Given the description of an element on the screen output the (x, y) to click on. 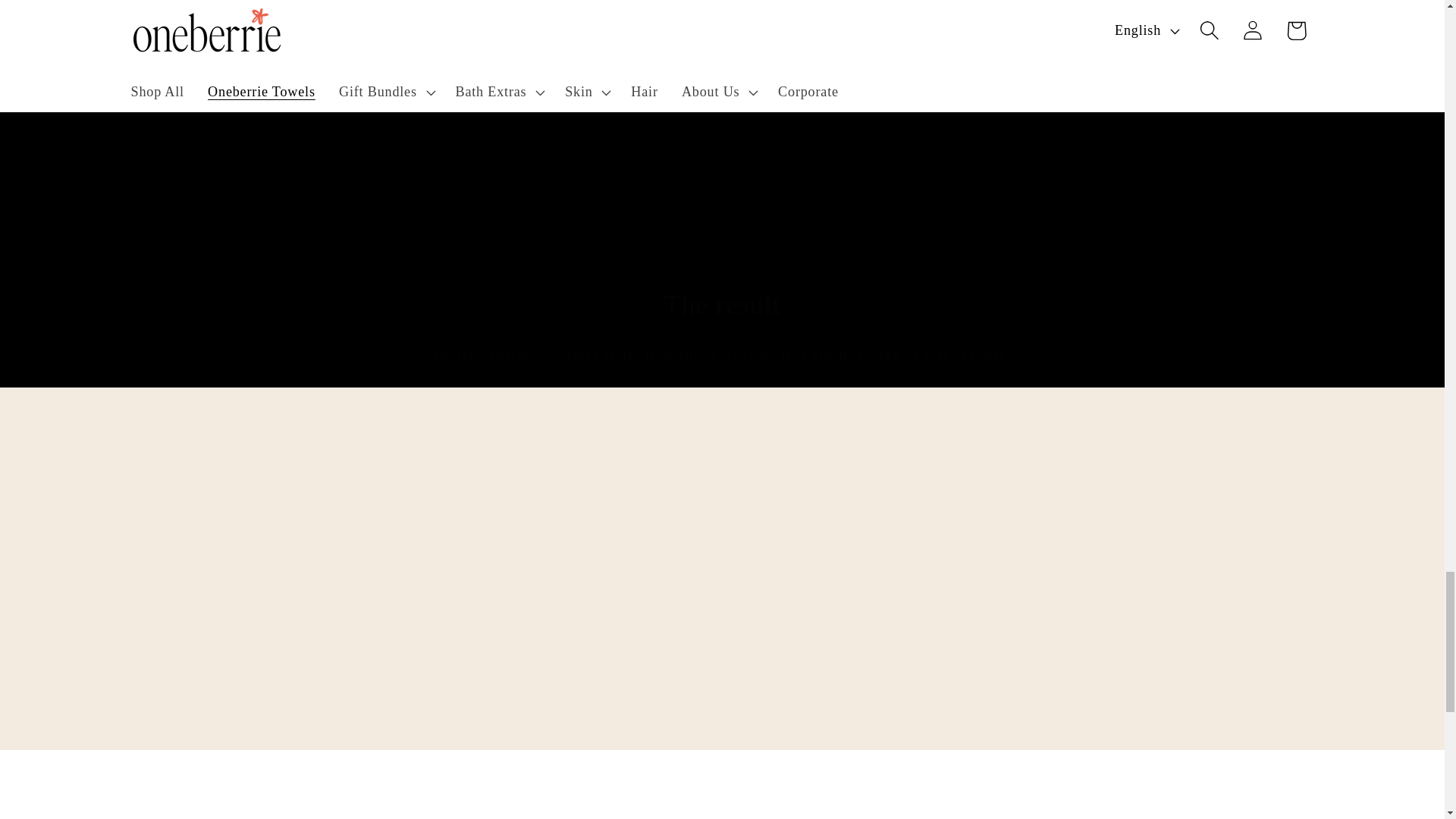
Step 2. Swaddle (485, 7)
Step 4. Body (960, 7)
Step 1. BReady (248, 7)
Step 5. Dry (1197, 7)
The result (721, 305)
Step 3. Head (722, 7)
